Given the description of an element on the screen output the (x, y) to click on. 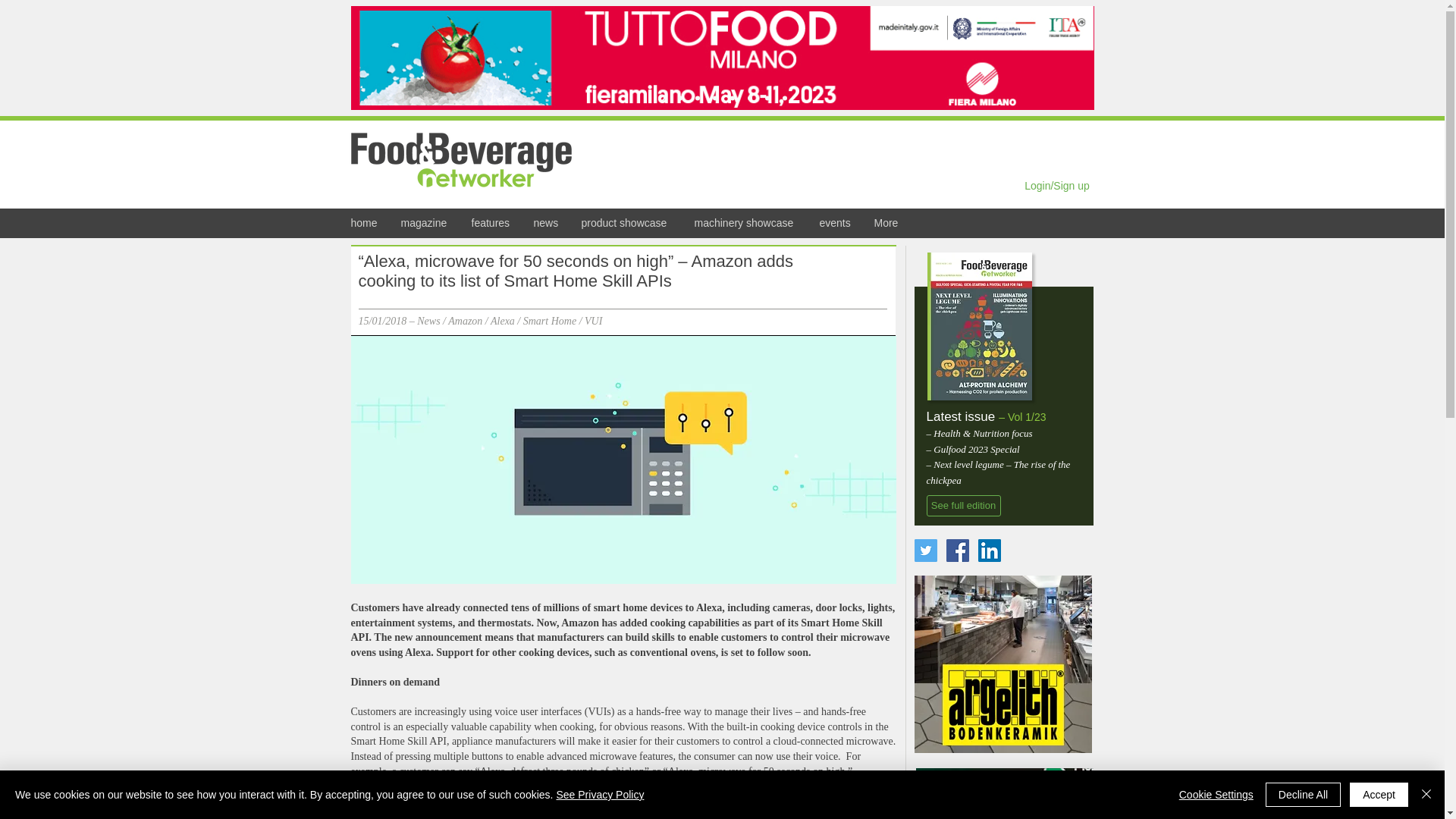
news (545, 223)
events (835, 223)
Twitter Tweet (863, 292)
home (364, 223)
product showcase (626, 223)
features (490, 223)
See full edition (963, 505)
magazine (425, 223)
machinery showcase (745, 223)
